Given the description of an element on the screen output the (x, y) to click on. 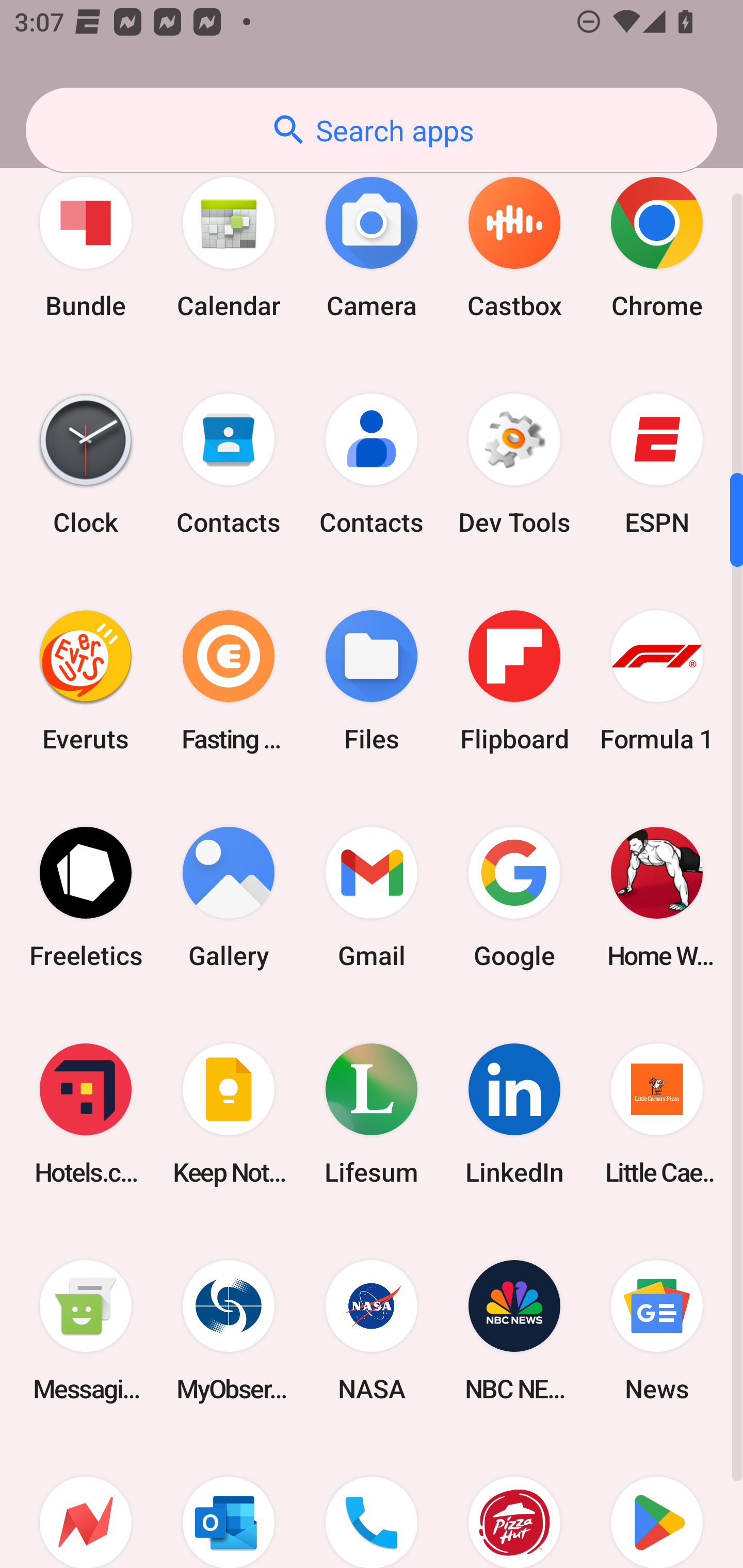
  Search apps (371, 130)
Bundle (85, 247)
Calendar (228, 247)
Camera (371, 247)
Castbox (514, 247)
Chrome (656, 247)
Clock (85, 463)
Contacts (228, 463)
Contacts (371, 463)
Dev Tools (514, 463)
ESPN (656, 463)
Everuts (85, 680)
Fasting Coach (228, 680)
Files (371, 680)
Flipboard (514, 680)
Formula 1 (656, 680)
Freeletics (85, 896)
Gallery (228, 896)
Gmail (371, 896)
Google (514, 896)
Home Workout (656, 896)
Hotels.com (85, 1114)
Keep Notes (228, 1114)
Lifesum (371, 1114)
LinkedIn (514, 1114)
Little Caesars Pizza (656, 1114)
Messaging (85, 1331)
MyObservatory (228, 1331)
NASA (371, 1331)
NBC NEWS (514, 1331)
News (656, 1331)
NewsBreak (85, 1503)
Outlook (228, 1503)
Phone (371, 1503)
Pizza Hut HK & Macau (514, 1503)
Play Store (656, 1503)
